Given the description of an element on the screen output the (x, y) to click on. 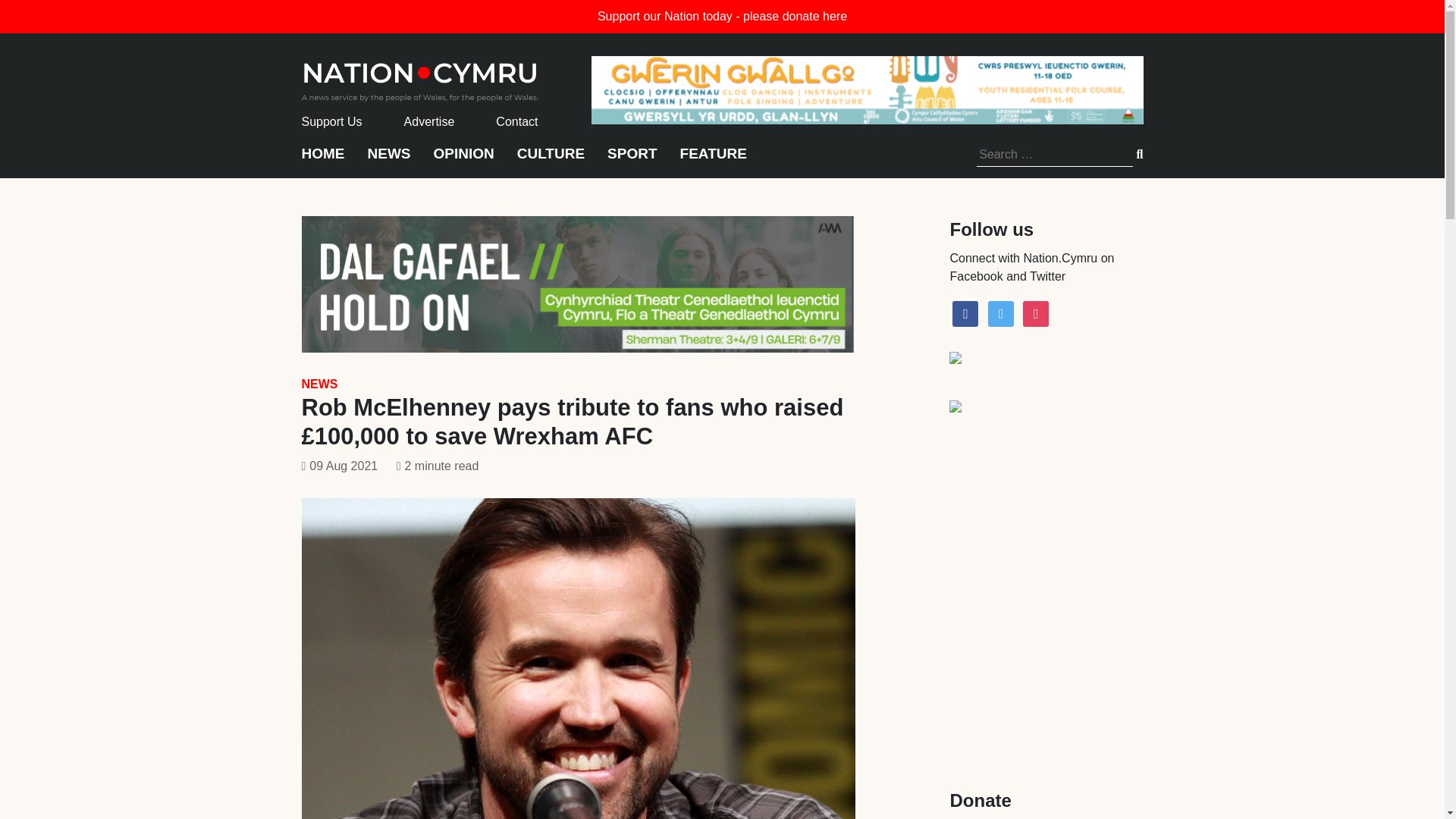
Contact (516, 121)
NEWS (319, 383)
home (419, 77)
NEWS (388, 160)
OPINION (464, 160)
Advertise (429, 121)
Support Us (331, 121)
SPORT (631, 160)
HOME (323, 160)
FEATURE (712, 160)
